Given the description of an element on the screen output the (x, y) to click on. 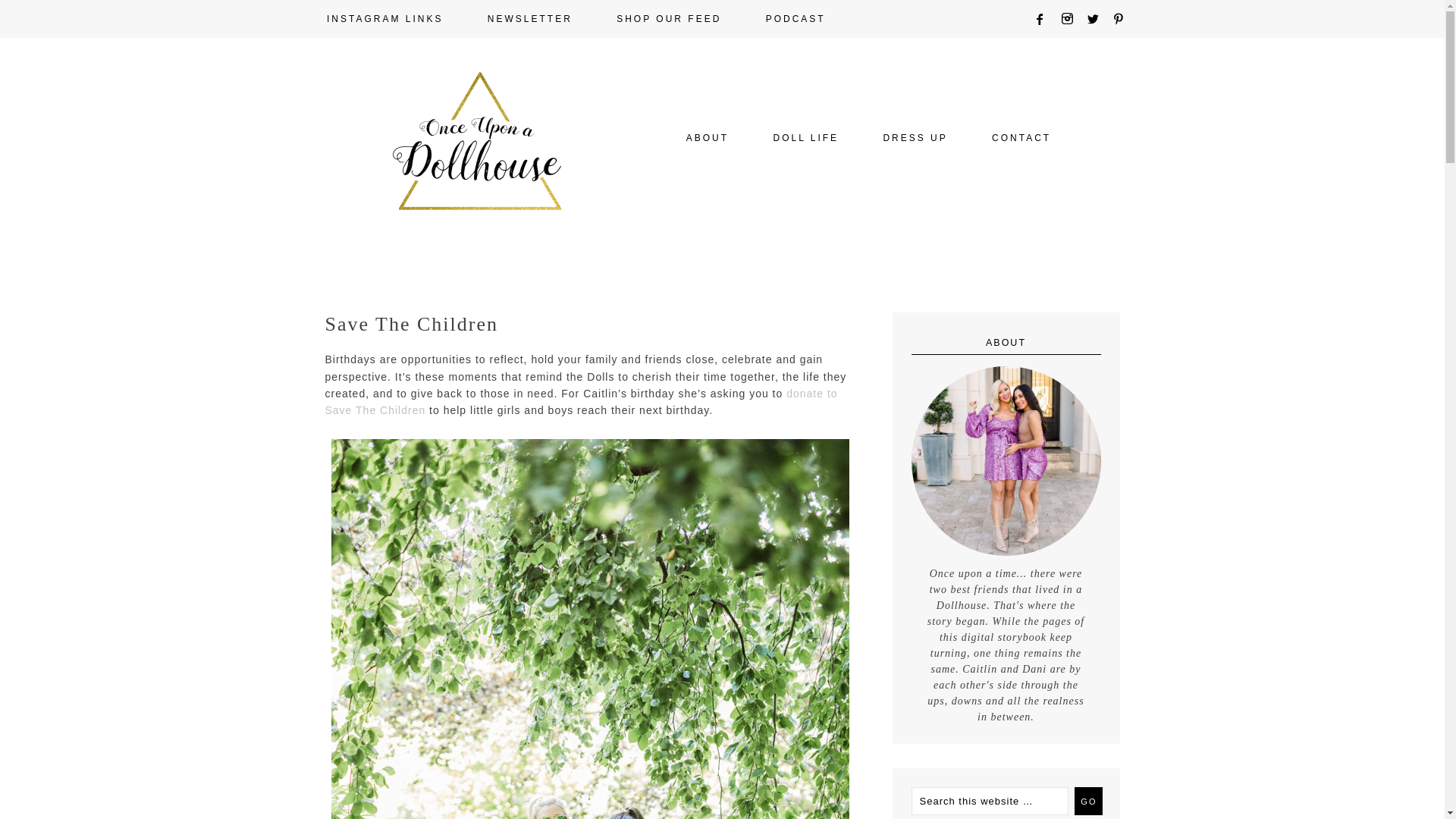
Twitter (1098, 19)
CONTACT (1011, 137)
GO (1088, 800)
Beauty and Fashion (914, 137)
GO (1088, 800)
Instagram (1071, 19)
Two Best Friends (707, 137)
Facebook (1045, 19)
Lifestyle (805, 137)
NEWSLETTER (529, 18)
